Given the description of an element on the screen output the (x, y) to click on. 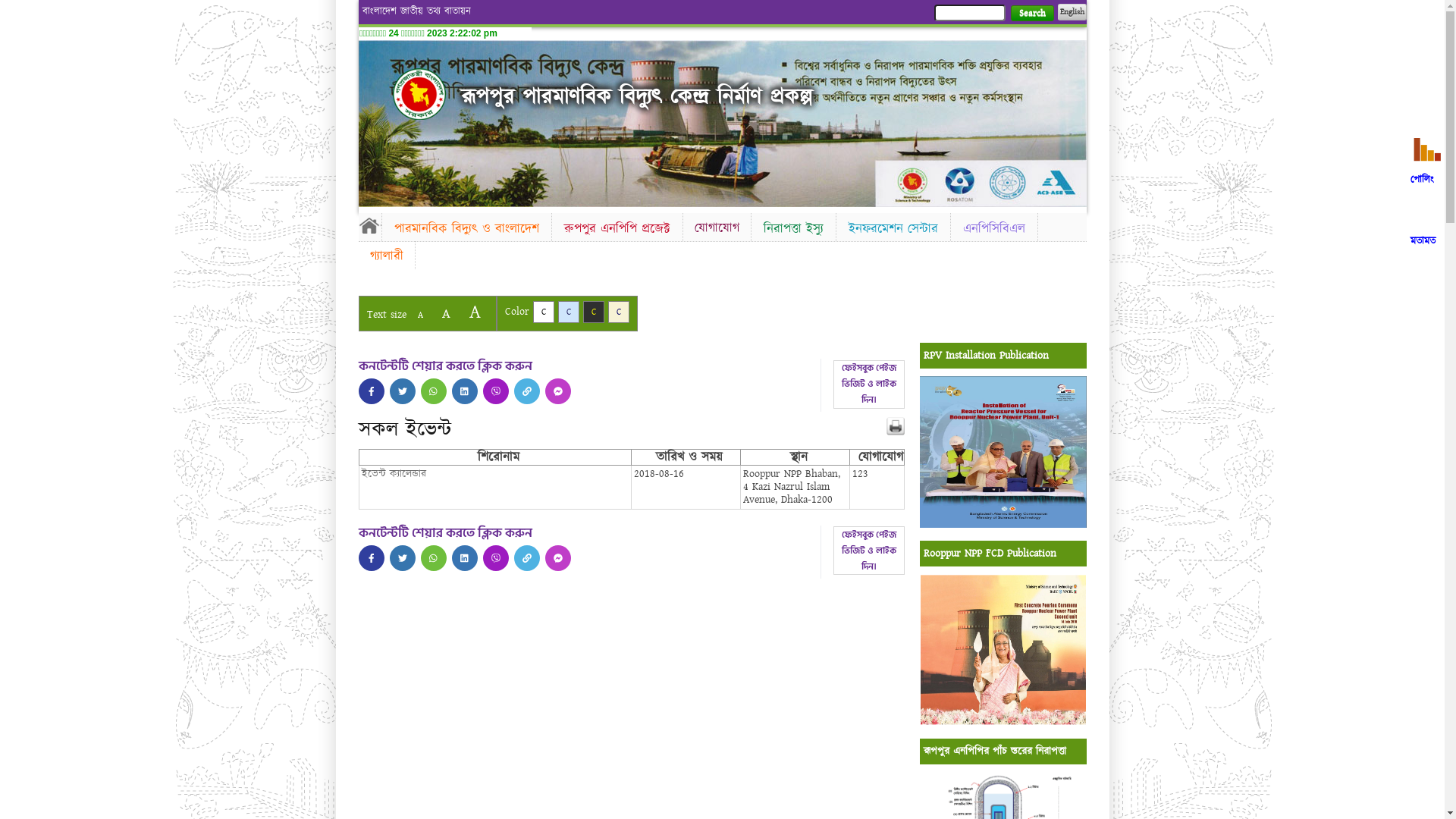
C Element type: text (542, 312)
C Element type: text (618, 312)
Home Element type: hover (418, 93)
C Element type: text (592, 312)
Home Element type: hover (368, 224)
A Element type: text (419, 314)
English Element type: text (1071, 11)
A Element type: text (445, 313)
Search Element type: text (1031, 13)
C Element type: text (568, 312)
A Element type: text (474, 311)
